Given the description of an element on the screen output the (x, y) to click on. 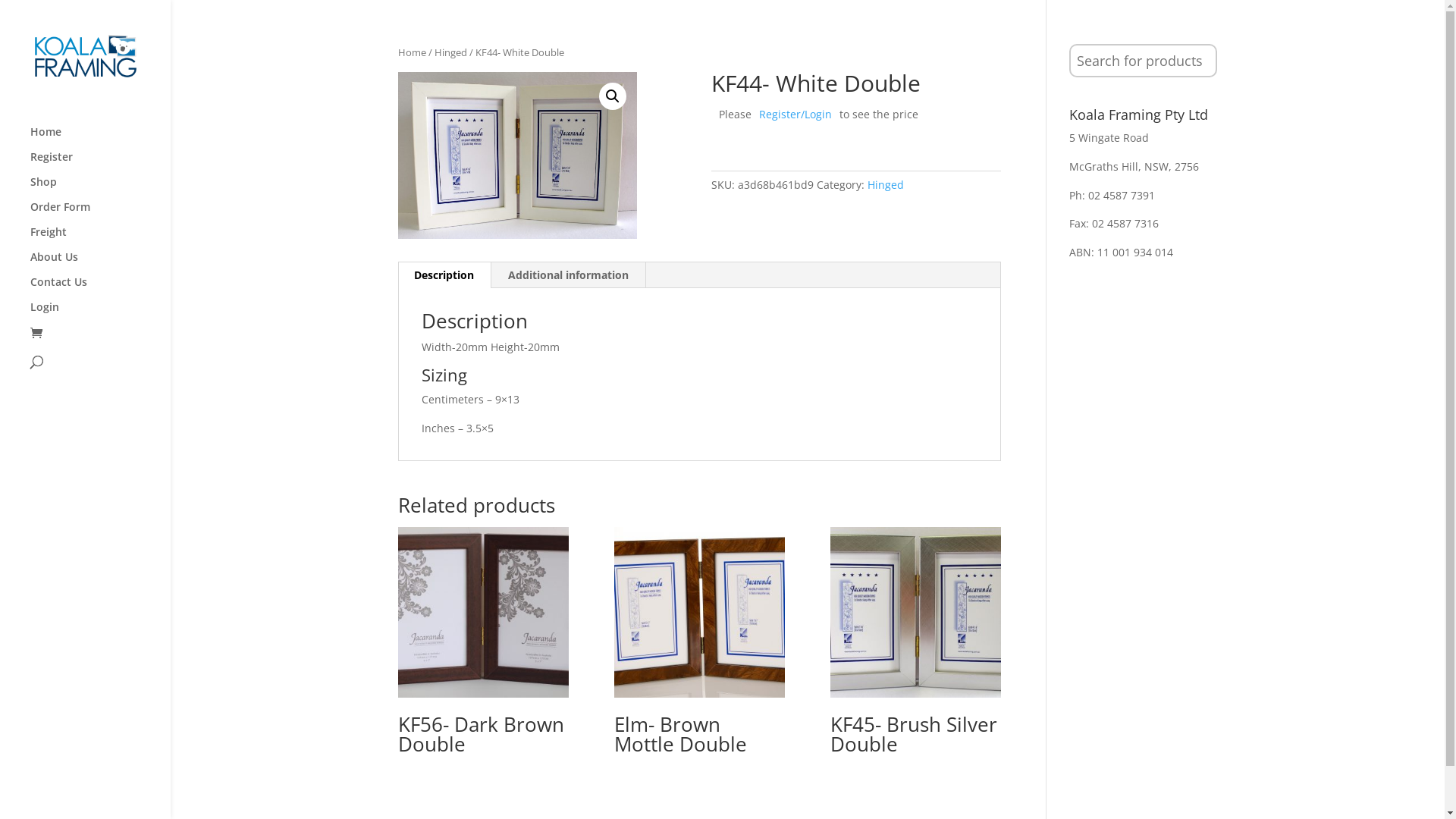
Elm- Brown Mottle Double Element type: text (699, 645)
Contact Us Element type: text (100, 288)
Hinged Element type: text (450, 52)
Search Element type: text (21, 9)
Login Element type: text (100, 313)
About Us Element type: text (100, 263)
KF45- Brush Silver Double Element type: text (915, 645)
Shop Element type: text (100, 188)
Home Element type: text (100, 138)
Additional information Element type: text (568, 275)
KF44 Dbl Element type: hover (517, 155)
Hinged Element type: text (885, 184)
Register/Login Element type: text (795, 113)
Register Element type: text (100, 163)
Order Form Element type: text (100, 213)
Freight Element type: text (100, 238)
Description Element type: text (443, 275)
Home Element type: text (412, 52)
KF56- Dark Brown Double Element type: text (483, 645)
